Given the description of an element on the screen output the (x, y) to click on. 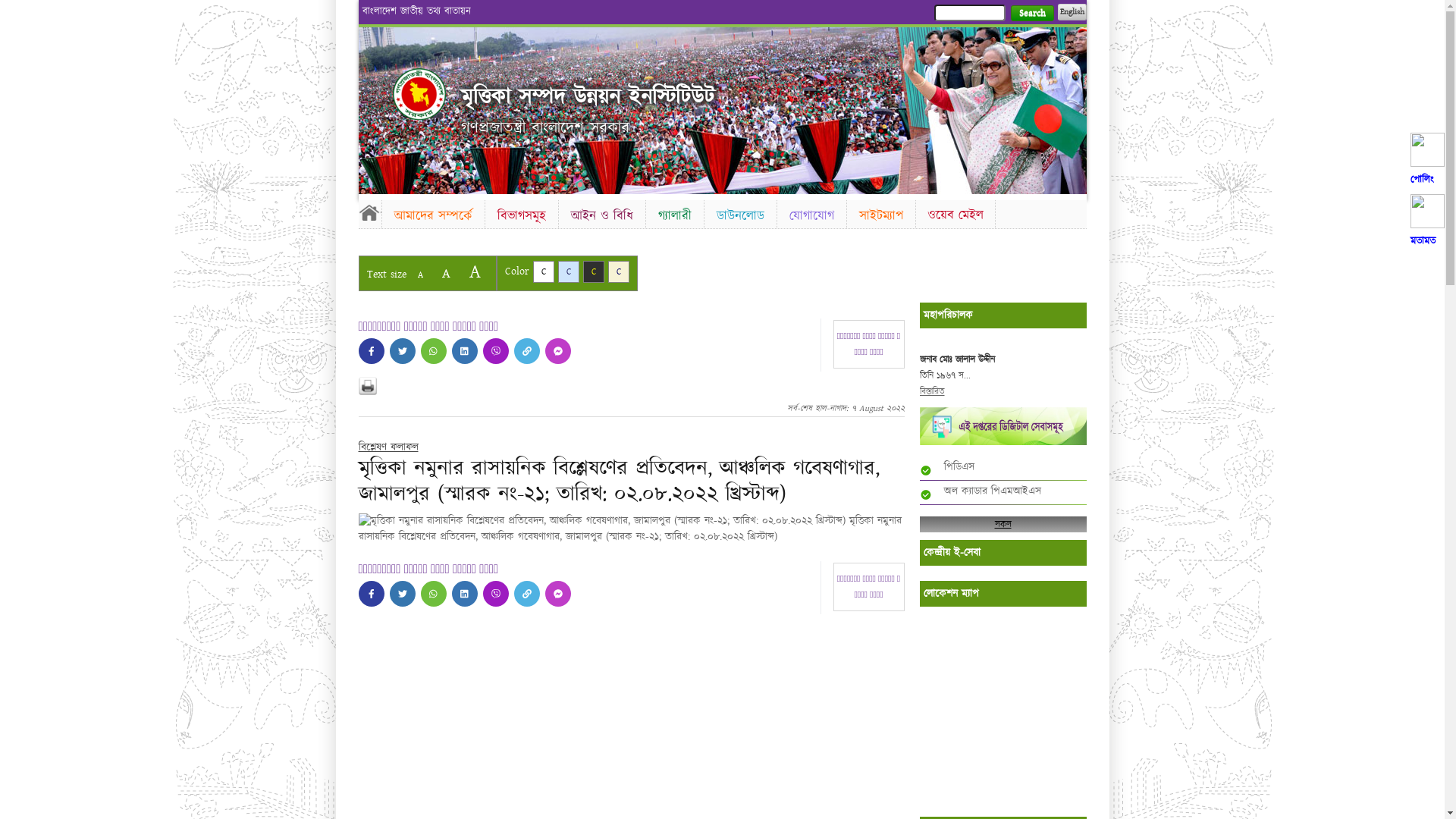
A Element type: text (445, 273)
Home Element type: hover (368, 211)
C Element type: text (568, 271)
C Element type: text (618, 271)
Search Element type: text (1031, 13)
A Element type: text (474, 271)
C Element type: text (542, 271)
A Element type: text (419, 274)
Home Element type: hover (418, 93)
English Element type: text (1071, 11)
C Element type: text (592, 271)
